Given the description of an element on the screen output the (x, y) to click on. 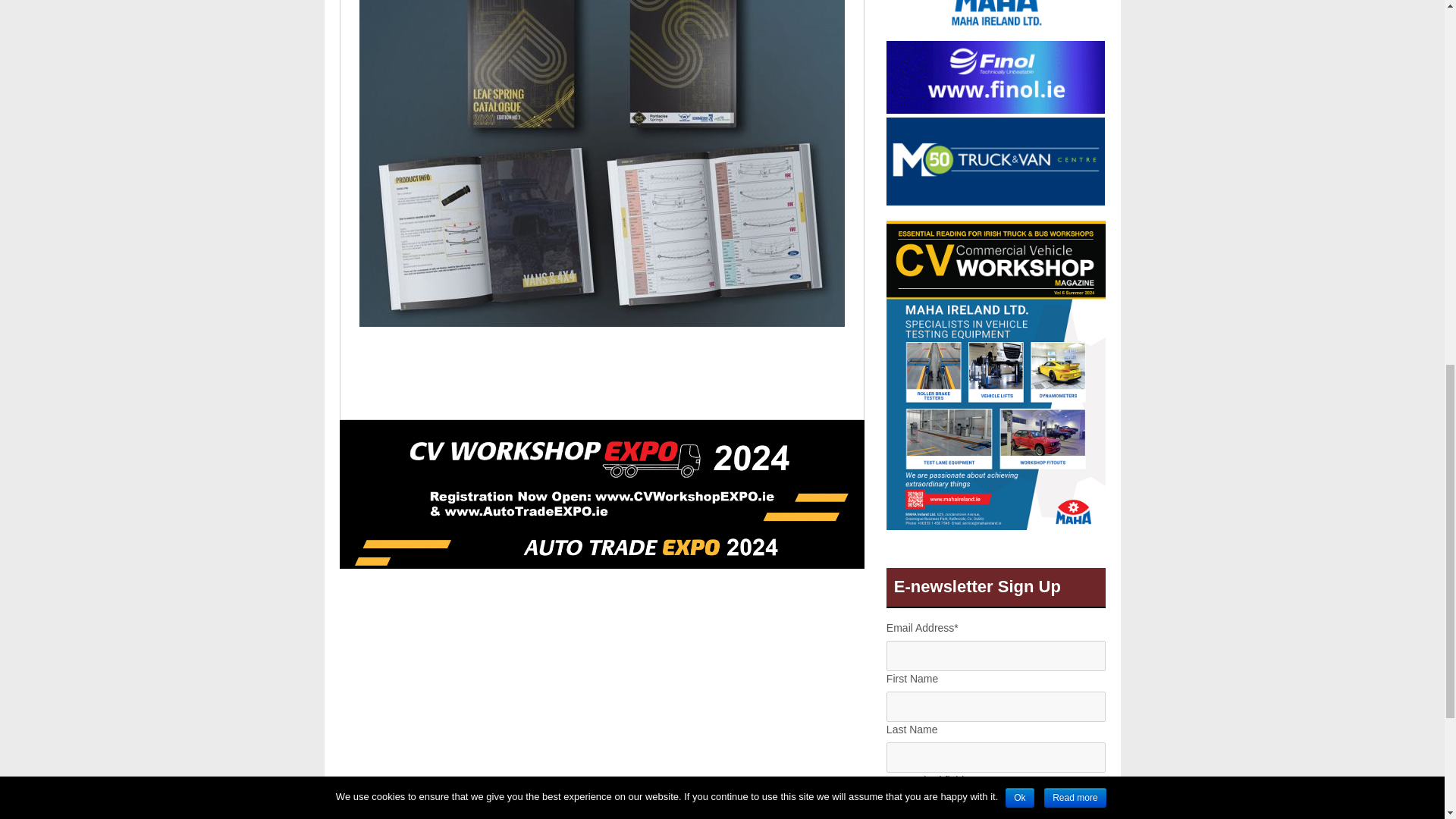
Subscribe (995, 810)
